Given the description of an element on the screen output the (x, y) to click on. 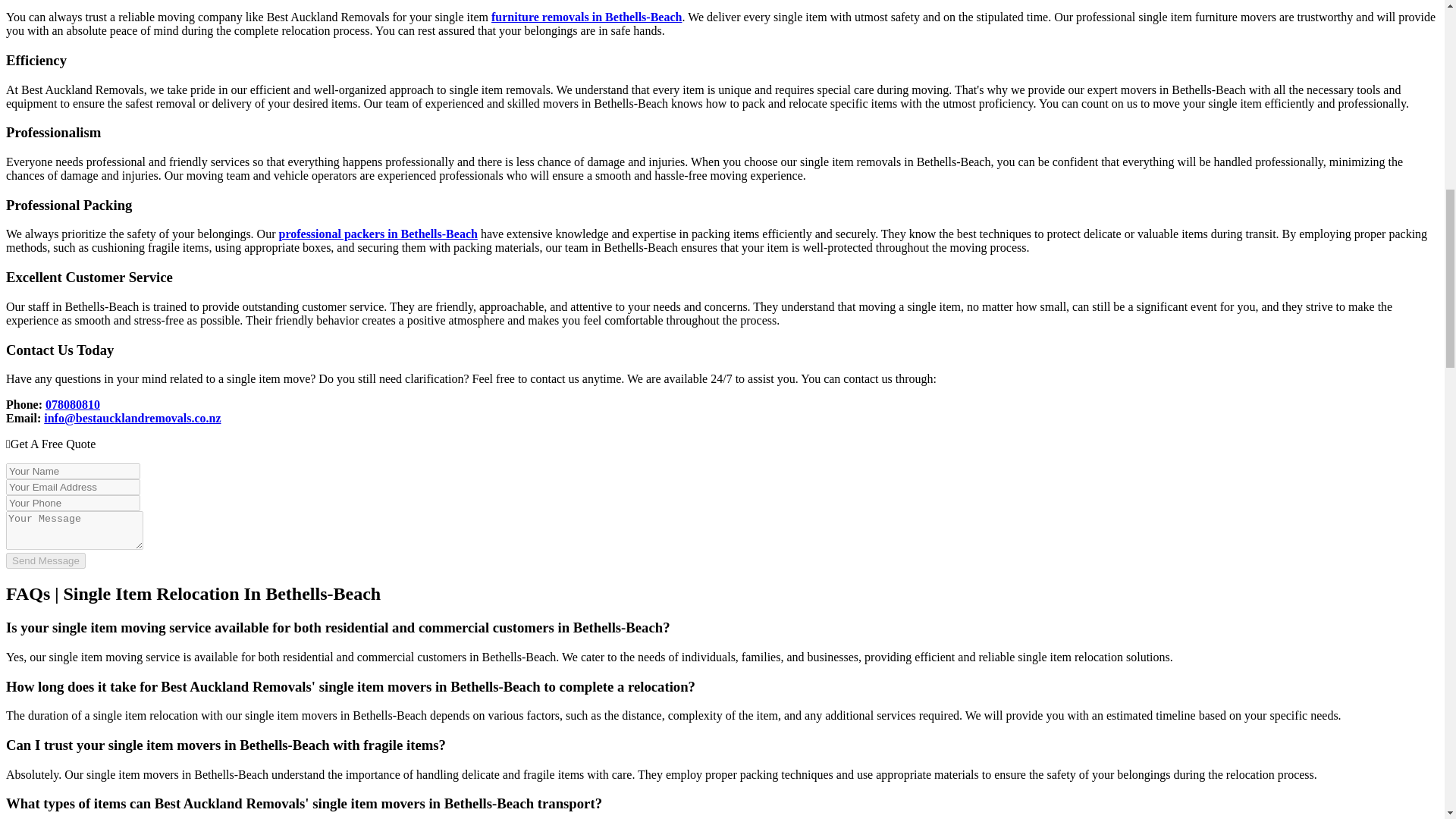
Send Message (45, 560)
furniture removals in Bethells-Beach (586, 16)
professional packers in Bethells-Beach (378, 233)
078080810 (72, 404)
